Given the description of an element on the screen output the (x, y) to click on. 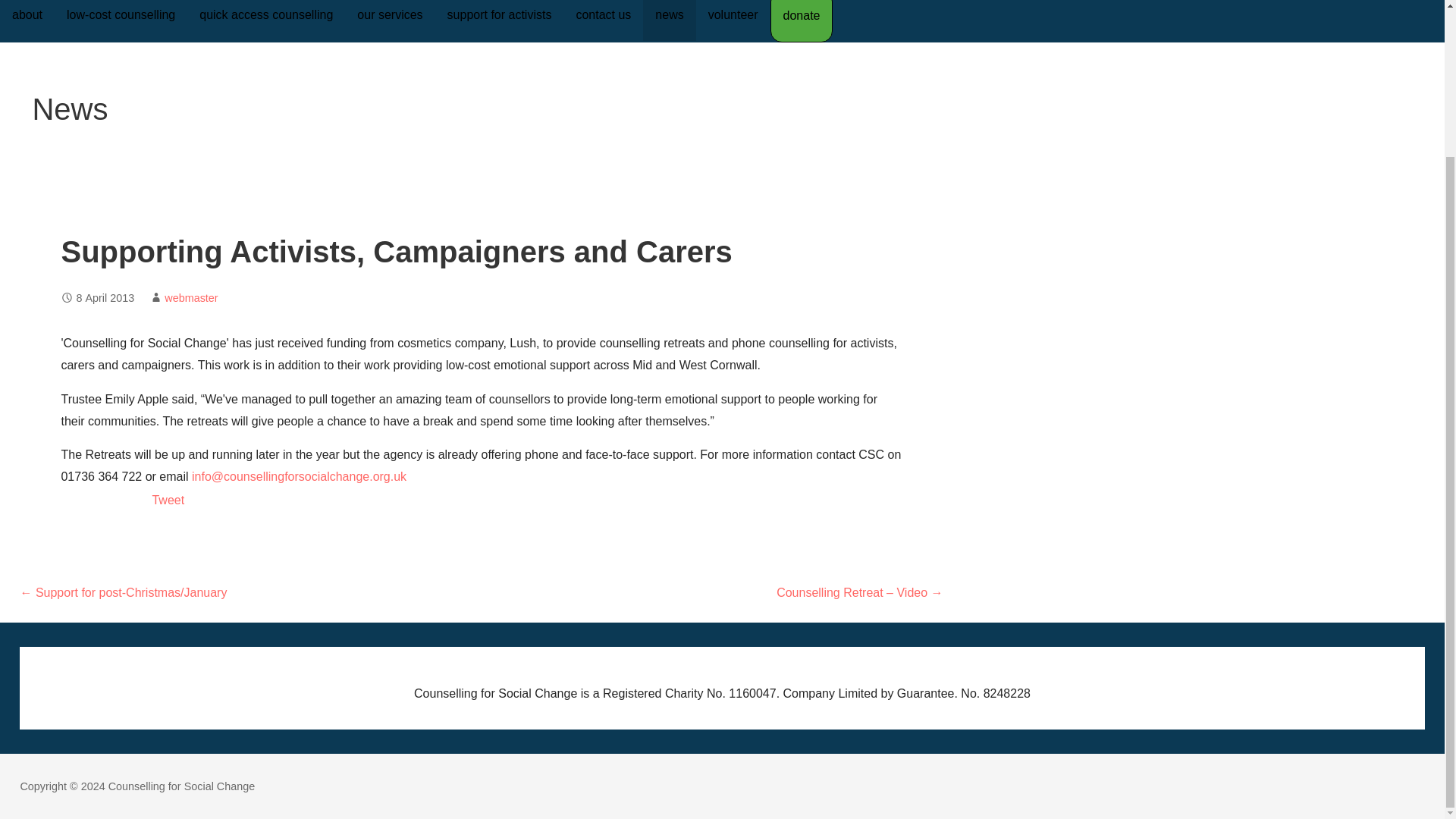
volunteer (732, 20)
Tweet (167, 499)
Posts by webmaster (190, 297)
low-cost counselling (121, 20)
webmaster (190, 297)
about (27, 20)
donate (801, 21)
contact us (603, 20)
our services (389, 20)
quick access counselling (266, 20)
news (669, 20)
support for activists (499, 20)
